Given the description of an element on the screen output the (x, y) to click on. 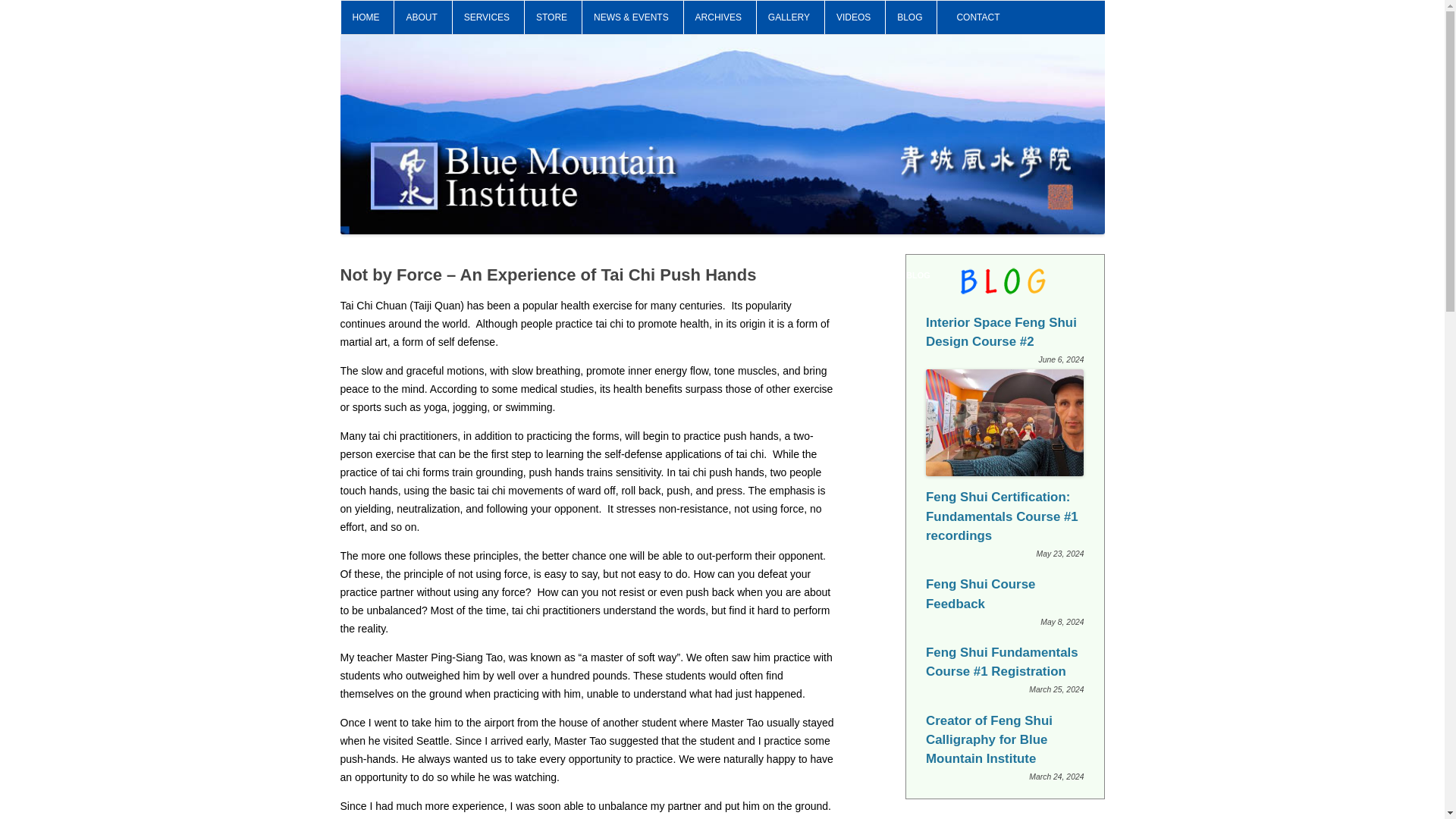
VIDEOS (852, 17)
ABOUT (421, 17)
Creator of Feng Shui Calligraphy for Blue Mountain Institute (989, 739)
Feng Shui Course Feedback (980, 593)
SERVICES (486, 17)
Feng Shui Course Feedback (980, 593)
CONTACT (977, 17)
STORE (551, 17)
Creator of Feng Shui Calligraphy for Blue Mountain Institute (989, 739)
ARCHIVES (718, 17)
GALLERY (788, 17)
